Given the description of an element on the screen output the (x, y) to click on. 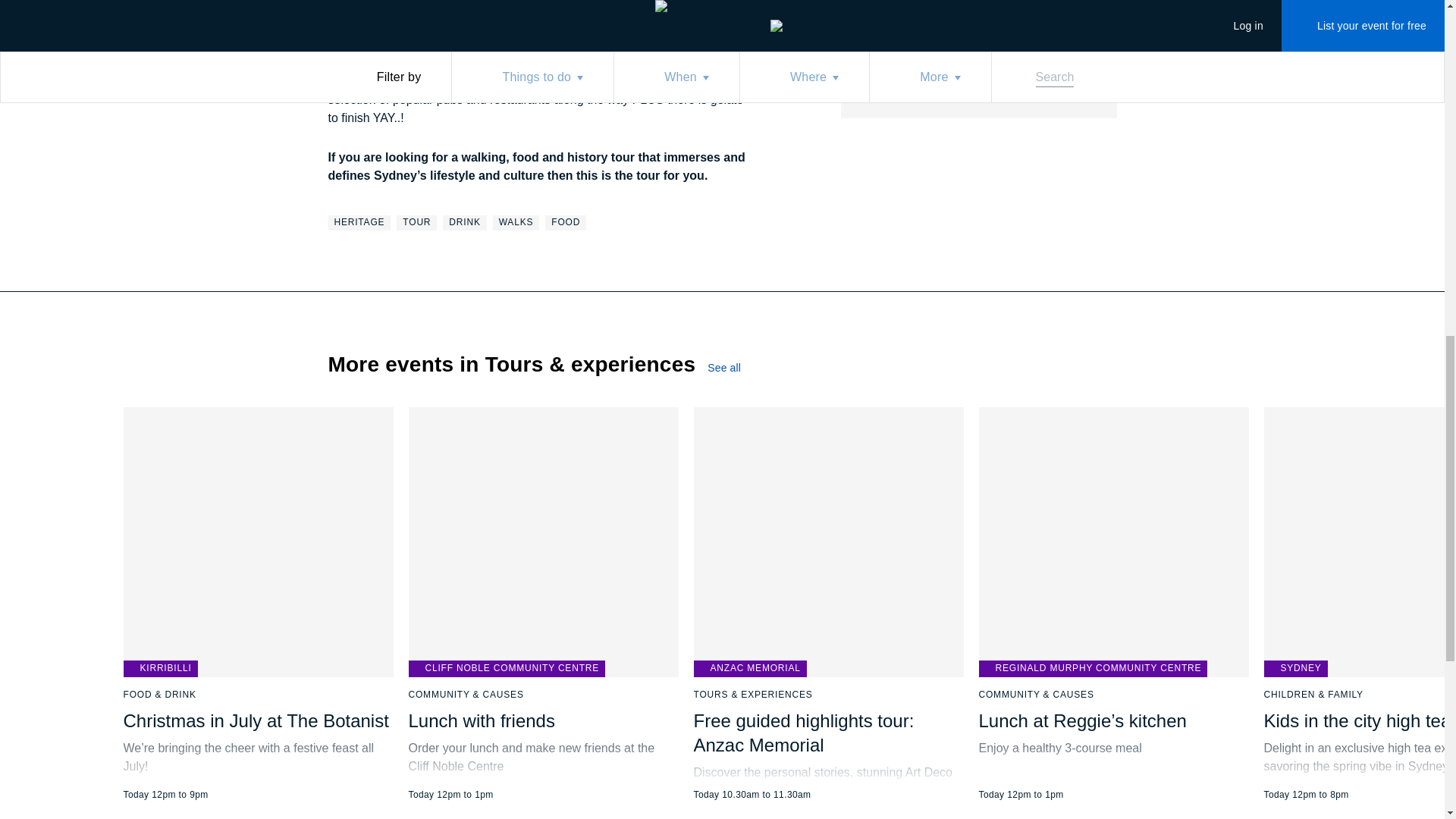
FOOD (565, 222)
TOUR (416, 222)
Heritage (358, 222)
ANZAC MEMORIAL (749, 668)
Walks (516, 222)
Lunch with friends (480, 720)
DRINK (464, 222)
CLIFF NOBLE COMMUNITY CENTRE (506, 668)
HERITAGE (358, 222)
WALKS (956, 18)
Lunch with friends (516, 222)
Christmas in July at The Botanist (542, 604)
Christmas in July at The Botanist (255, 720)
Free guided highlights tour: Anzac Memorial (257, 604)
